Given the description of an element on the screen output the (x, y) to click on. 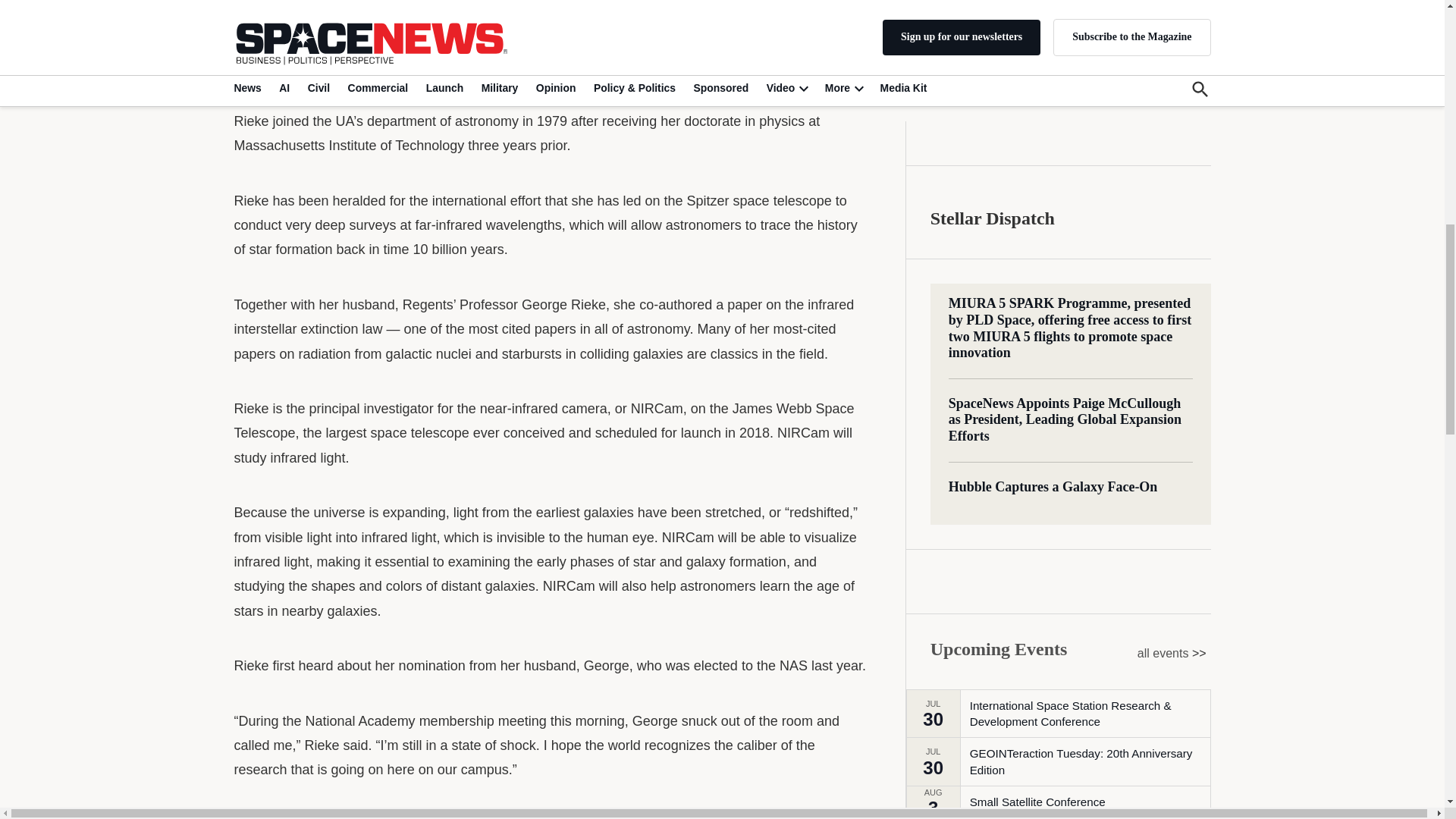
GEOINTeraction Tuesday: 20th Anniversary Edition (1089, 186)
Small Satellite Conference (1037, 227)
Space-Comm Expo Scotland (1043, 259)
